Given the description of an element on the screen output the (x, y) to click on. 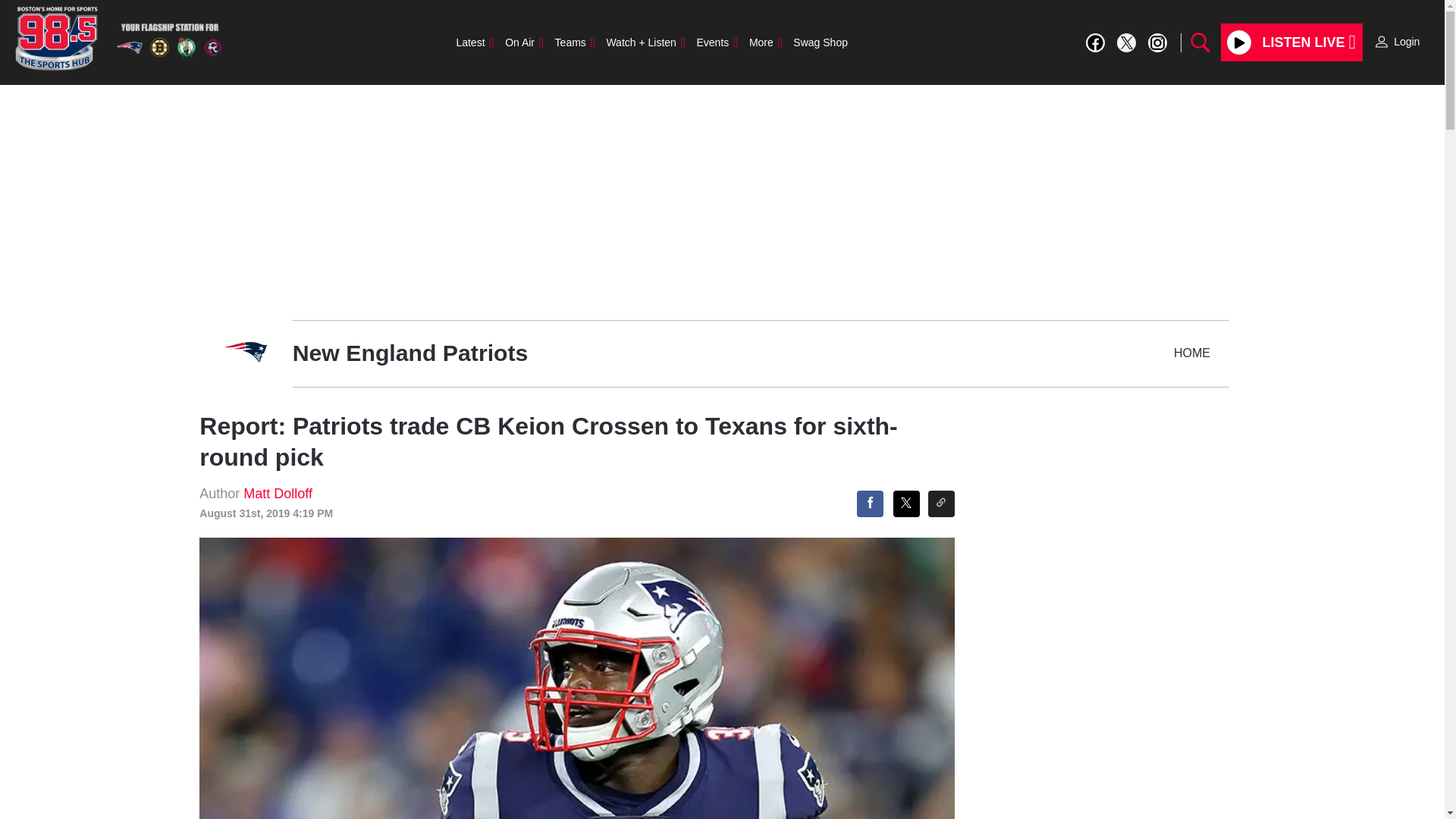
Matt Dolloff (278, 493)
Latest (474, 42)
Teams (575, 42)
On Air (523, 42)
